Given the description of an element on the screen output the (x, y) to click on. 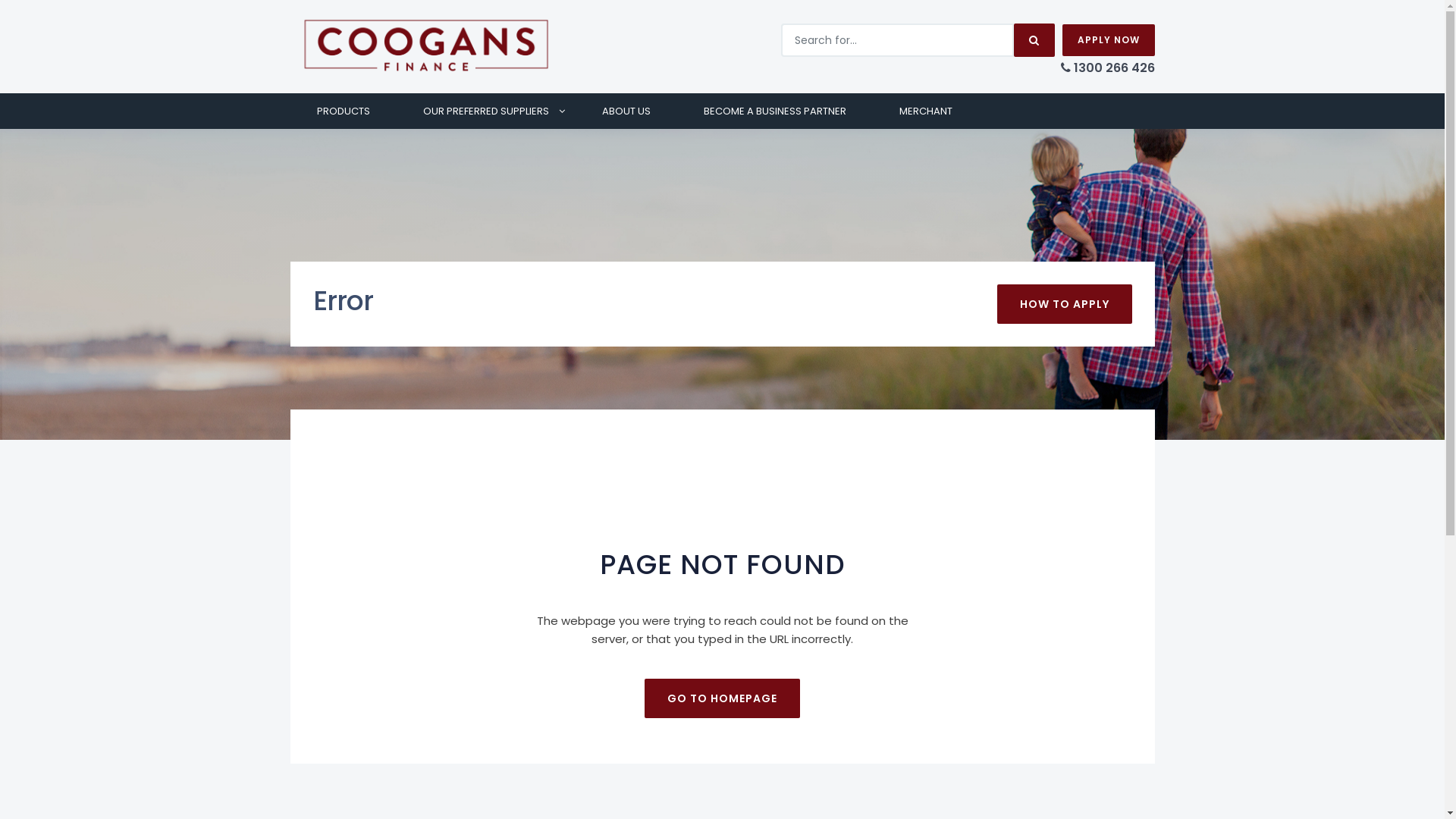
GO TO HOMEPAGE Element type: text (722, 698)
ABOUT US Element type: text (625, 110)
HOW TO APPLY Element type: text (1063, 303)
PRODUCTS Element type: text (342, 110)
BECOME A BUSINESS PARTNER Element type: text (774, 110)
OUR PREFERRED SUPPLIERS Element type: text (484, 110)
MERCHANT Element type: text (925, 110)
APPLY NOW Element type: text (1107, 40)
